Given the description of an element on the screen output the (x, y) to click on. 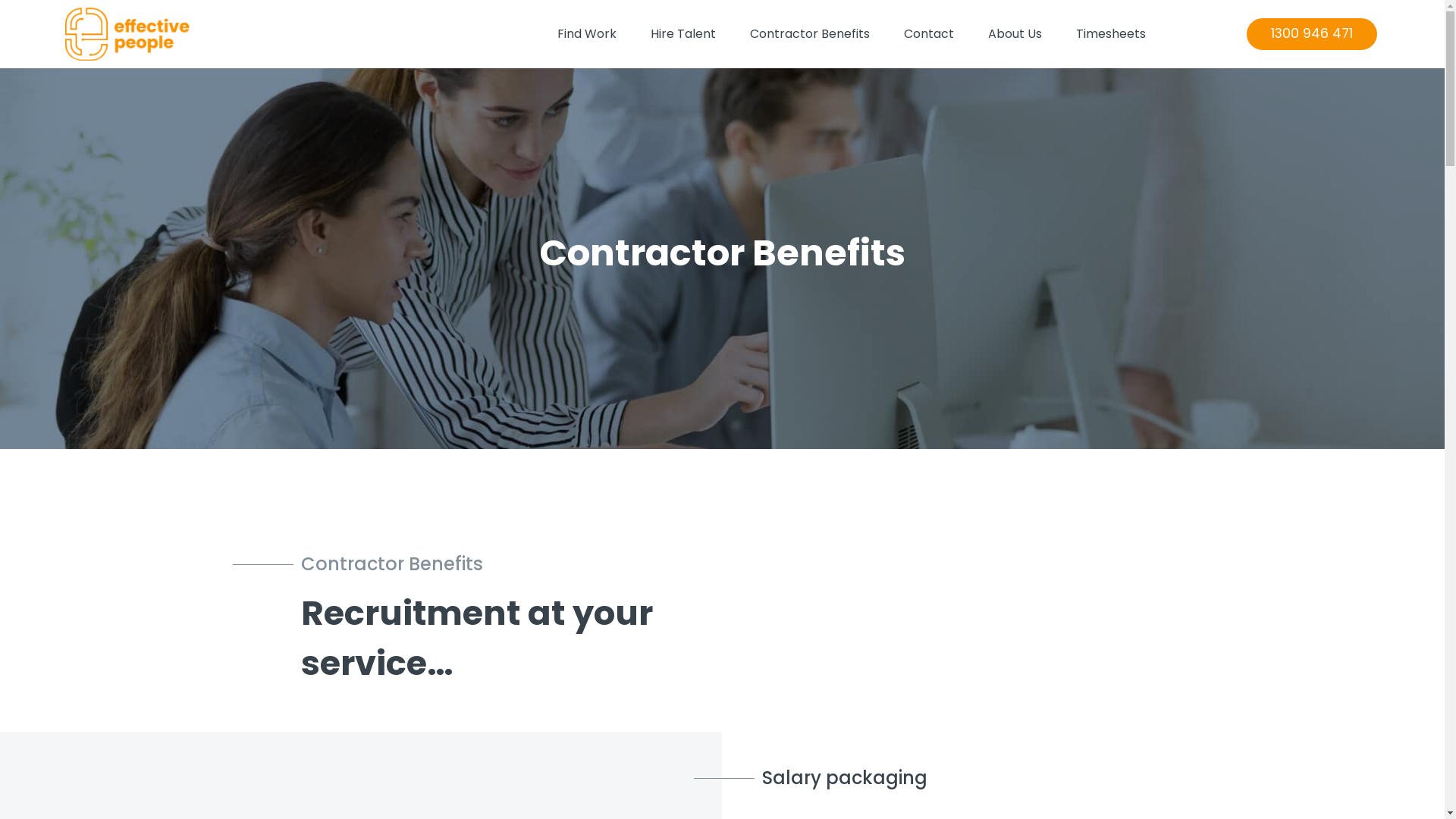
Hire Talent Element type: text (682, 33)
Contact Element type: text (928, 33)
Contractor Benefits Element type: text (809, 33)
Timesheets Element type: text (1110, 33)
1300 946 471 Element type: text (1311, 33)
About Us Element type: text (1014, 33)
Find Work Element type: text (586, 33)
